Given the description of an element on the screen output the (x, y) to click on. 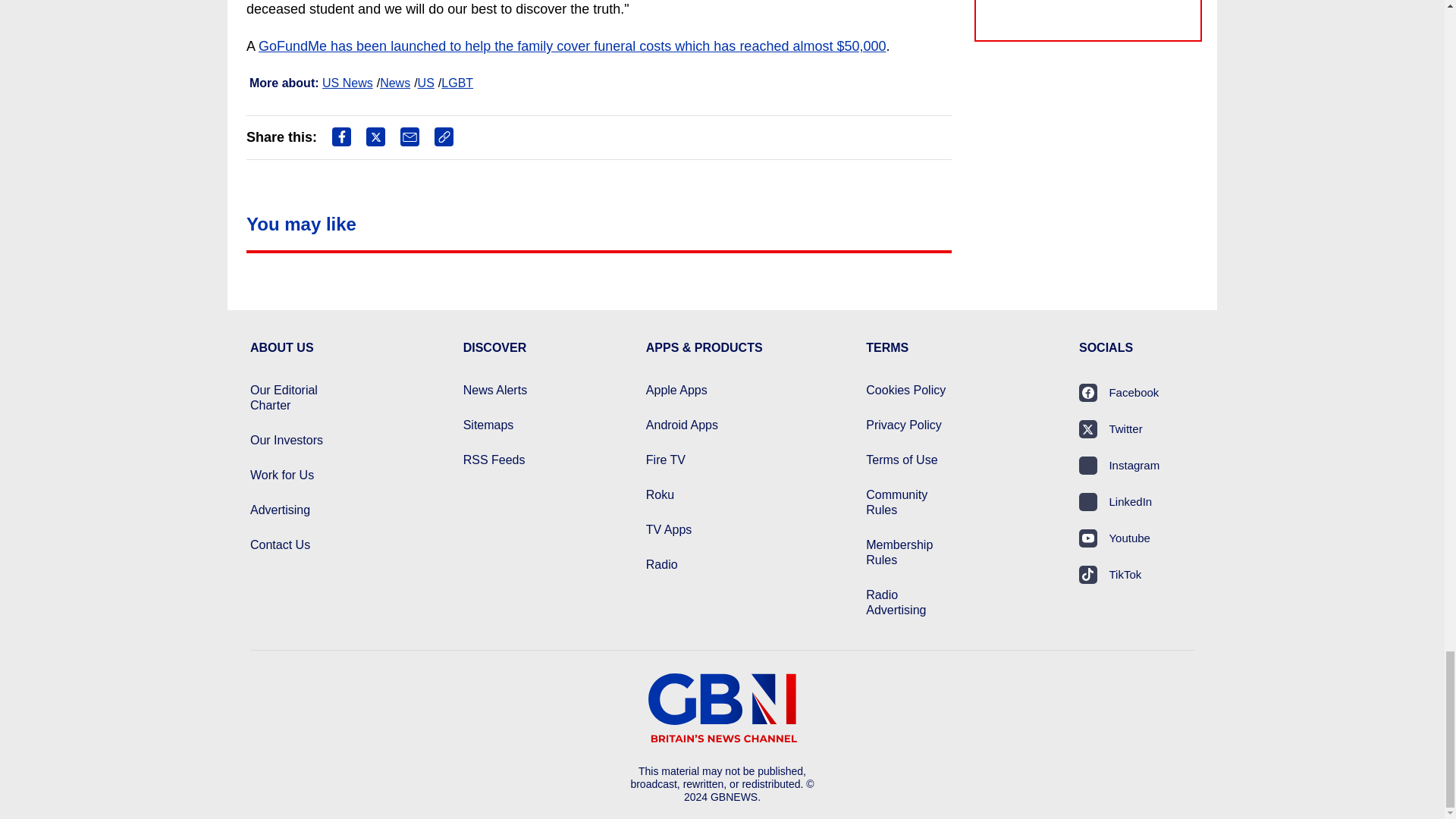
Copy this link to clipboard (442, 136)
